Given the description of an element on the screen output the (x, y) to click on. 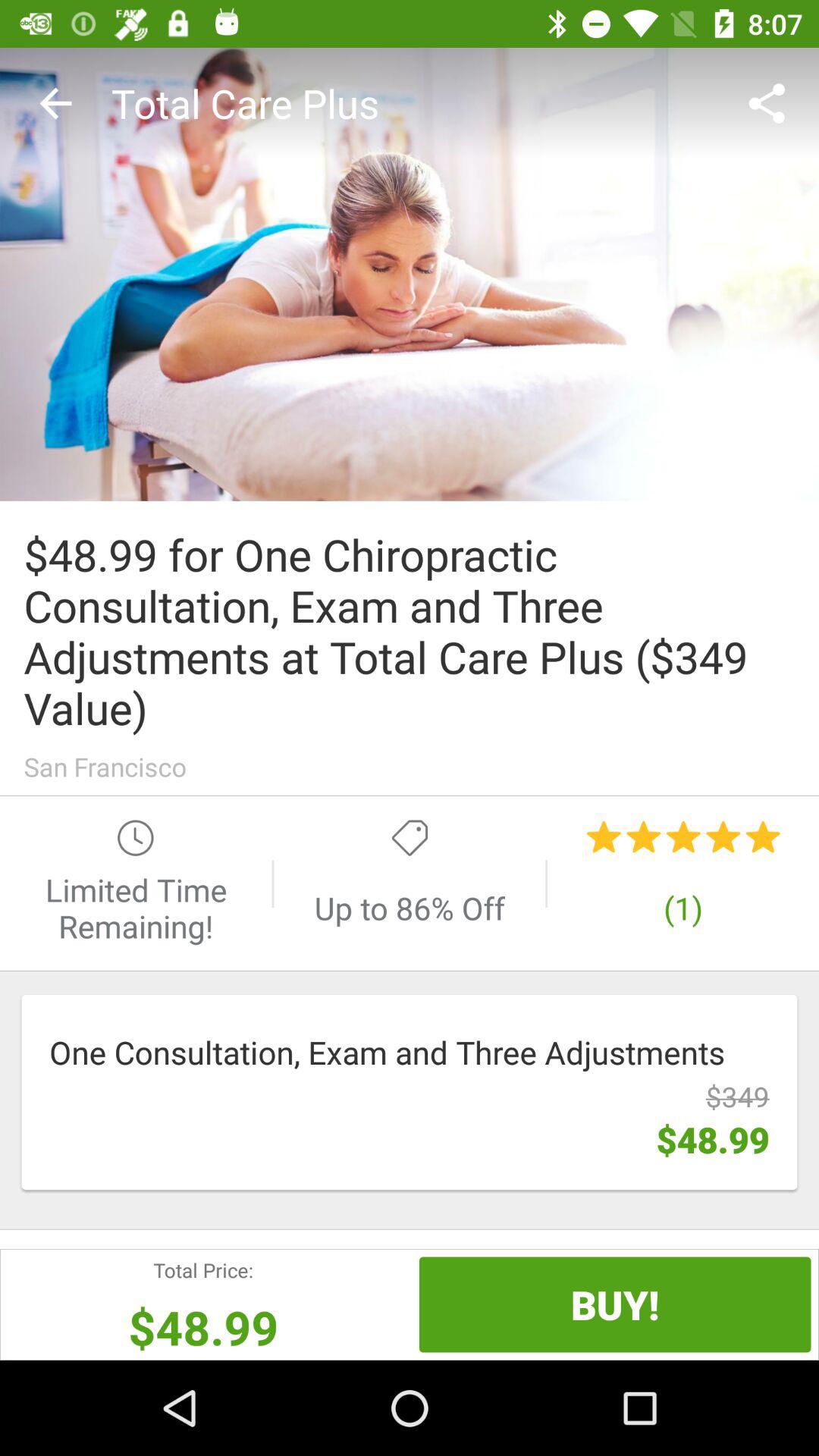
go to business main page (409, 274)
